Given the description of an element on the screen output the (x, y) to click on. 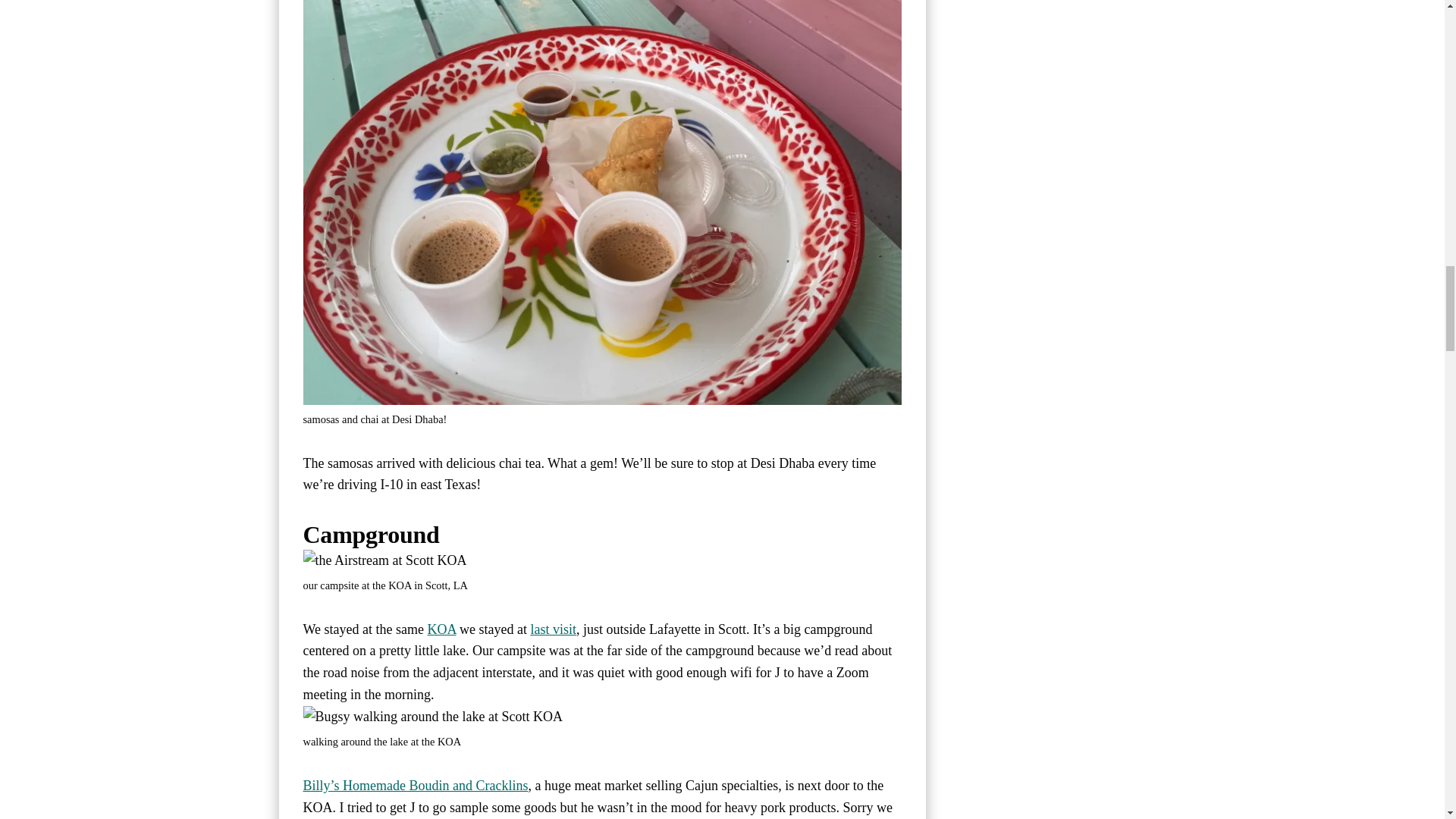
KOA (442, 629)
last visit (552, 629)
